Given the description of an element on the screen output the (x, y) to click on. 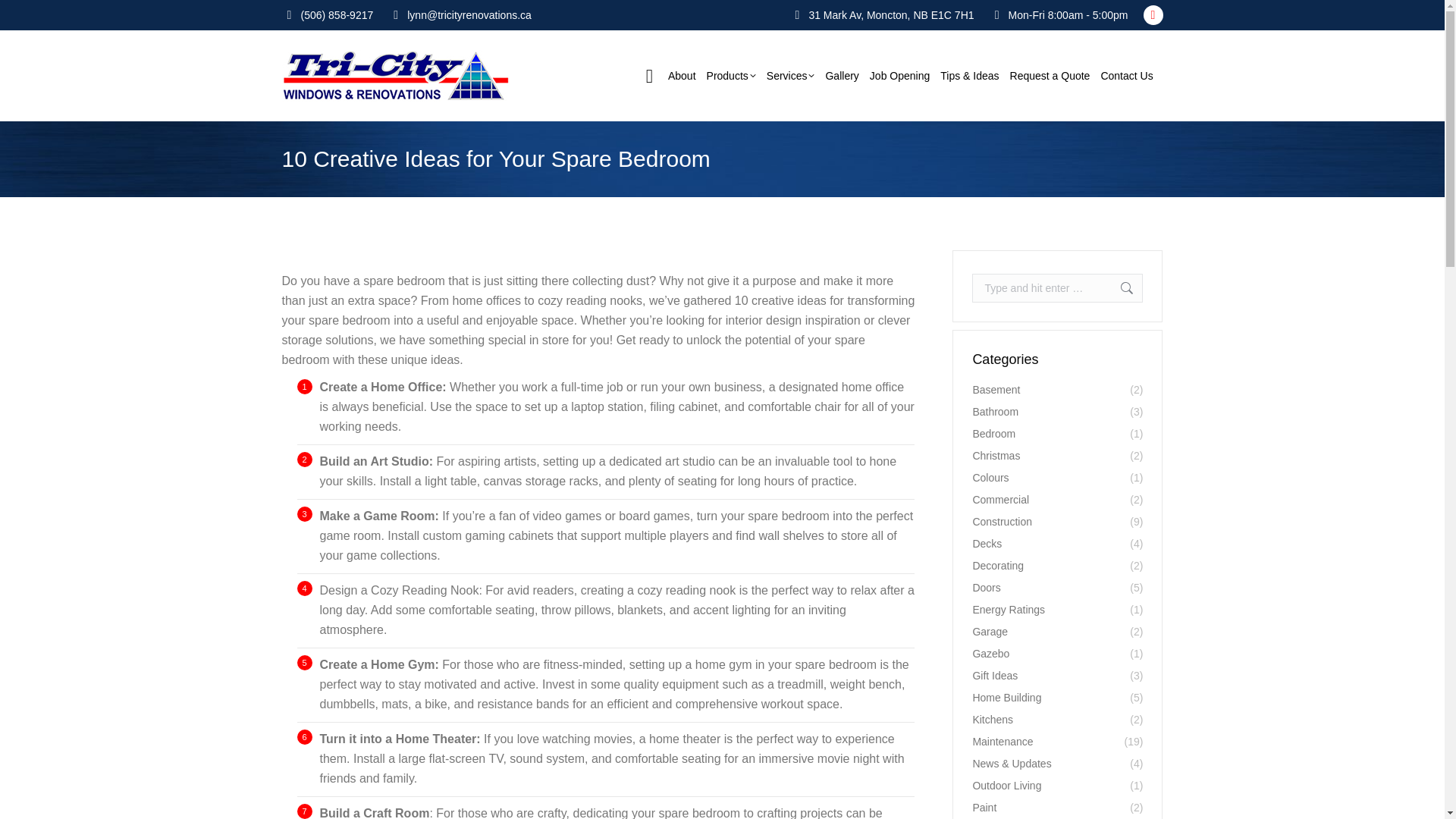
Go! (24, 16)
Job Opening (899, 75)
Go! (1118, 287)
Go! (1118, 287)
Contact Us (1126, 75)
Facebook page opens in new window (1152, 14)
Facebook page opens in new window (1152, 14)
Products (731, 75)
Request a Quote (1050, 75)
31 Mark Av, Moncton, NB E1C 7H1 (891, 14)
